Given the description of an element on the screen output the (x, y) to click on. 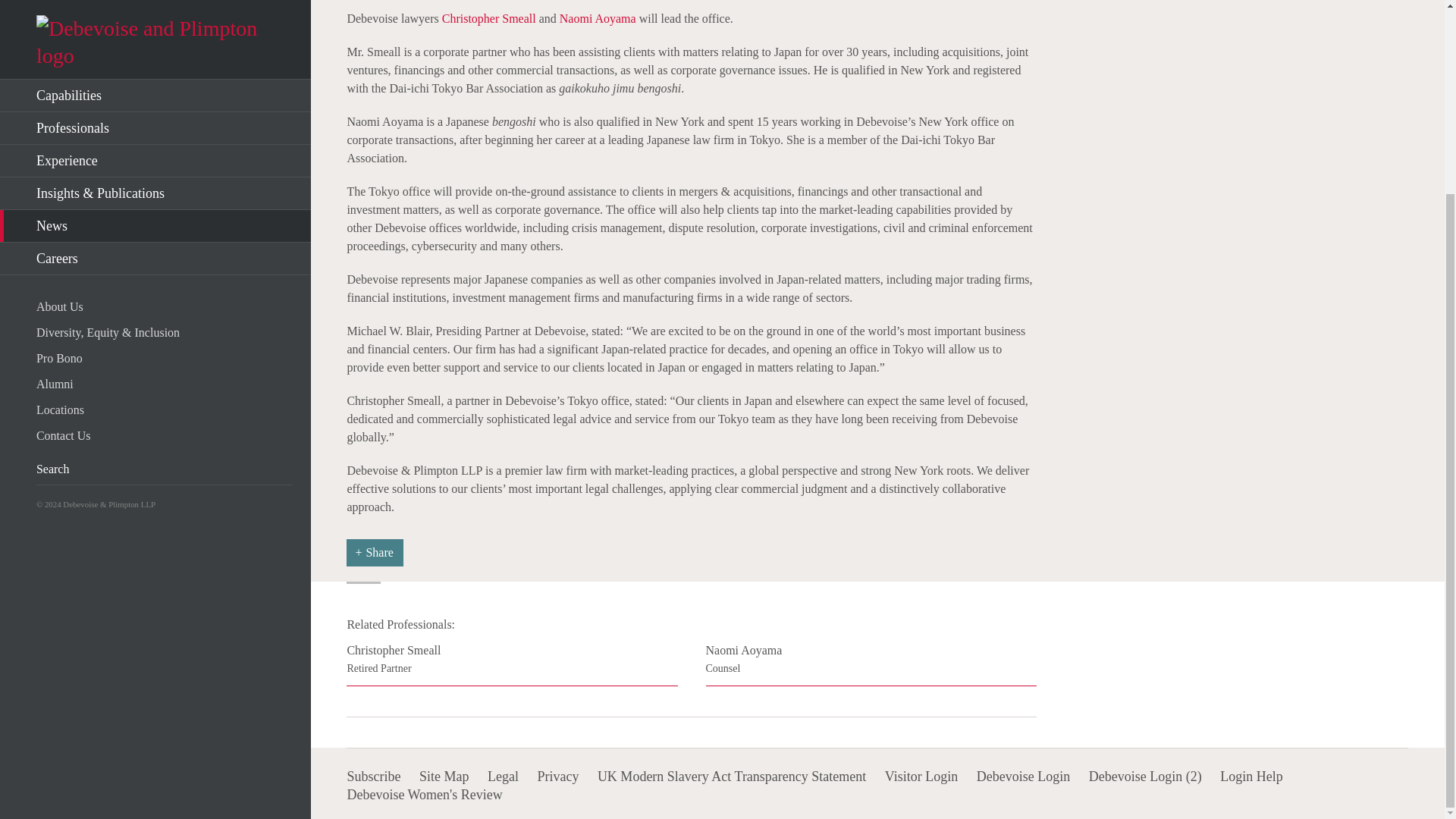
Subscribe (373, 776)
About Us (164, 63)
Contact Us (164, 191)
Legal (502, 776)
Naomi Aoyama (597, 18)
Search (243, 225)
Careers (870, 663)
Visitor Login (155, 15)
